Given the description of an element on the screen output the (x, y) to click on. 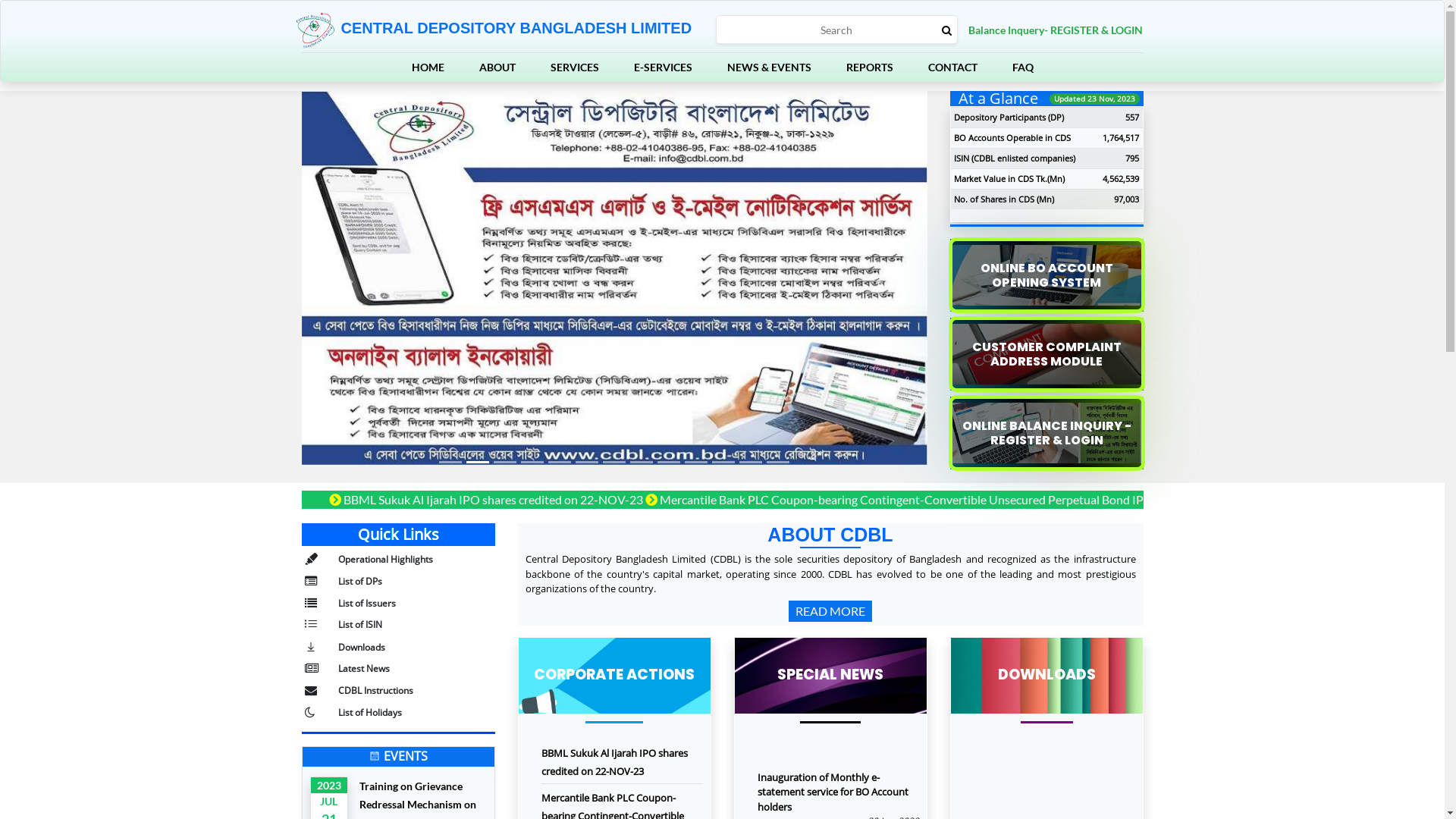
List of Holidays Element type: text (369, 712)
List of Issuers Element type: text (366, 602)
BO Accounts Operable in CDS Element type: text (1011, 137)
ONLINE BO ACCOUNT OPENING SYSTEM Element type: text (1045, 274)
ONLINE BALANCE INQUIRY - REGISTER & LOGIN Element type: text (1045, 432)
List of ISIN Element type: text (360, 624)
FAQ Element type: text (1021, 67)
Latest News Element type: text (363, 668)
CDBL Instructions Element type: text (375, 690)
CONTACT Element type: text (952, 67)
Downloads Element type: text (361, 646)
HOME Element type: text (426, 67)
NEWS & EVENTS Element type: text (768, 67)
Previous Element type: text (348, 287)
CUSTOMER COMPLAINT ADDRESS MODULE Element type: text (1045, 353)
Operational Highlights Element type: text (385, 558)
CENTRAL DEPOSITORY BANGLADESH LIMITED Element type: text (493, 29)
REPORTS Element type: text (869, 67)
Depository Participants (DP) Element type: text (1008, 116)
SERVICES Element type: text (574, 67)
No. of Shares in CDS (Mn) Element type: text (1003, 198)
Next Element type: text (880, 287)
BBML Sukuk Al Ijarah IPO shares credited on 22-NOV-23 Element type: text (614, 762)
BBML Sukuk Al Ijarah IPO shares credited on 22-NOV-23 Element type: text (1151, 499)
List of DPs Element type: text (360, 580)
ISIN (CDBL enlisted companies) Element type: text (1014, 157)
READ MORE Element type: text (830, 610)
ABOUT Element type: text (497, 67)
Market Value in CDS Tk.(Mn) Element type: text (1008, 178)
E-SERVICES Element type: text (662, 67)
Balance Inquery- REGISTER & LOGIN Element type: text (1054, 29)
